Given the description of an element on the screen output the (x, y) to click on. 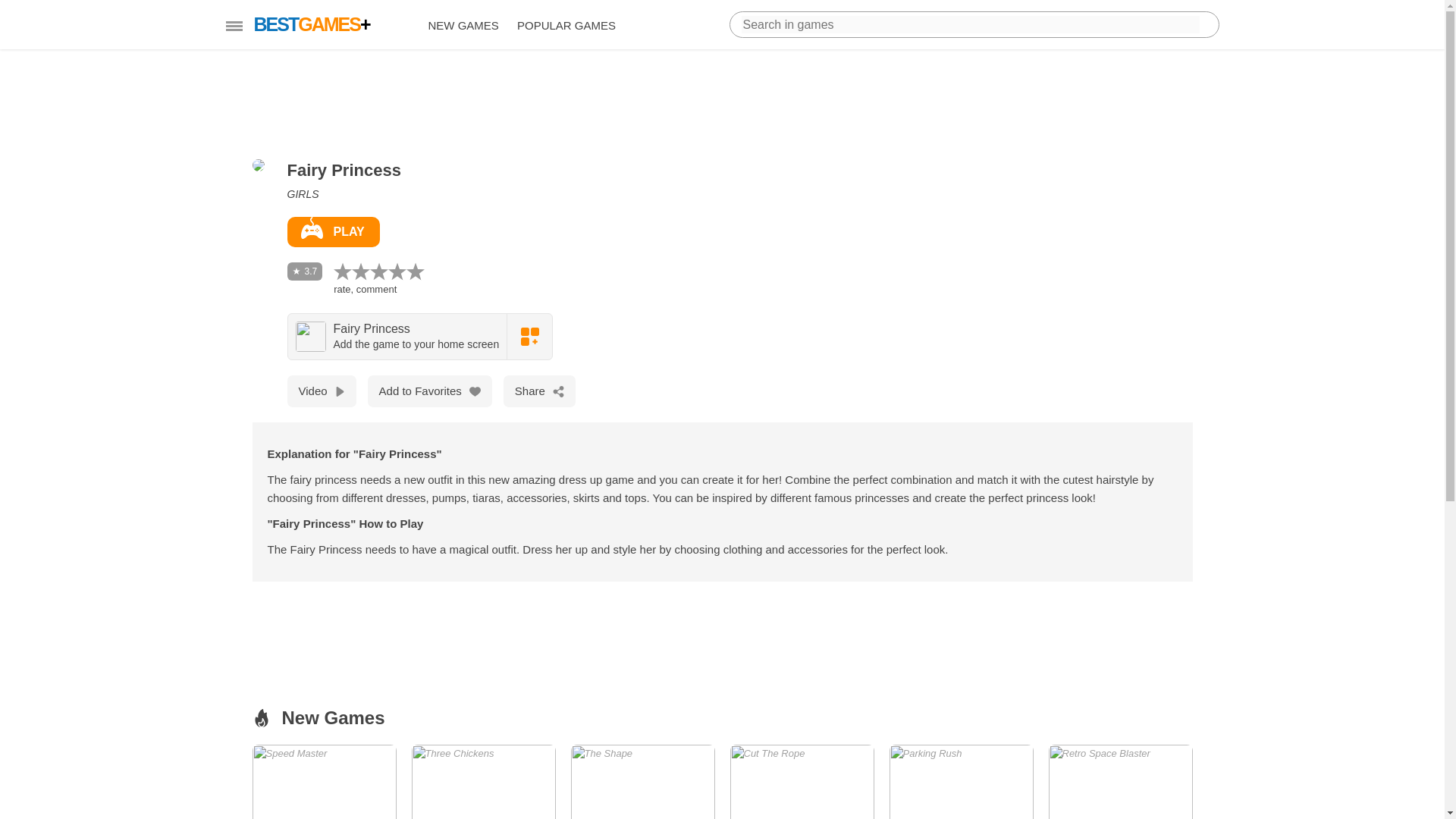
New Games (462, 25)
PLAY (323, 781)
Three Chickens (332, 232)
Speed Master (482, 781)
The Shape (323, 781)
Parking Rush (642, 781)
POPULAR GAMES (960, 781)
Ana Sayfa (960, 781)
